Given the description of an element on the screen output the (x, y) to click on. 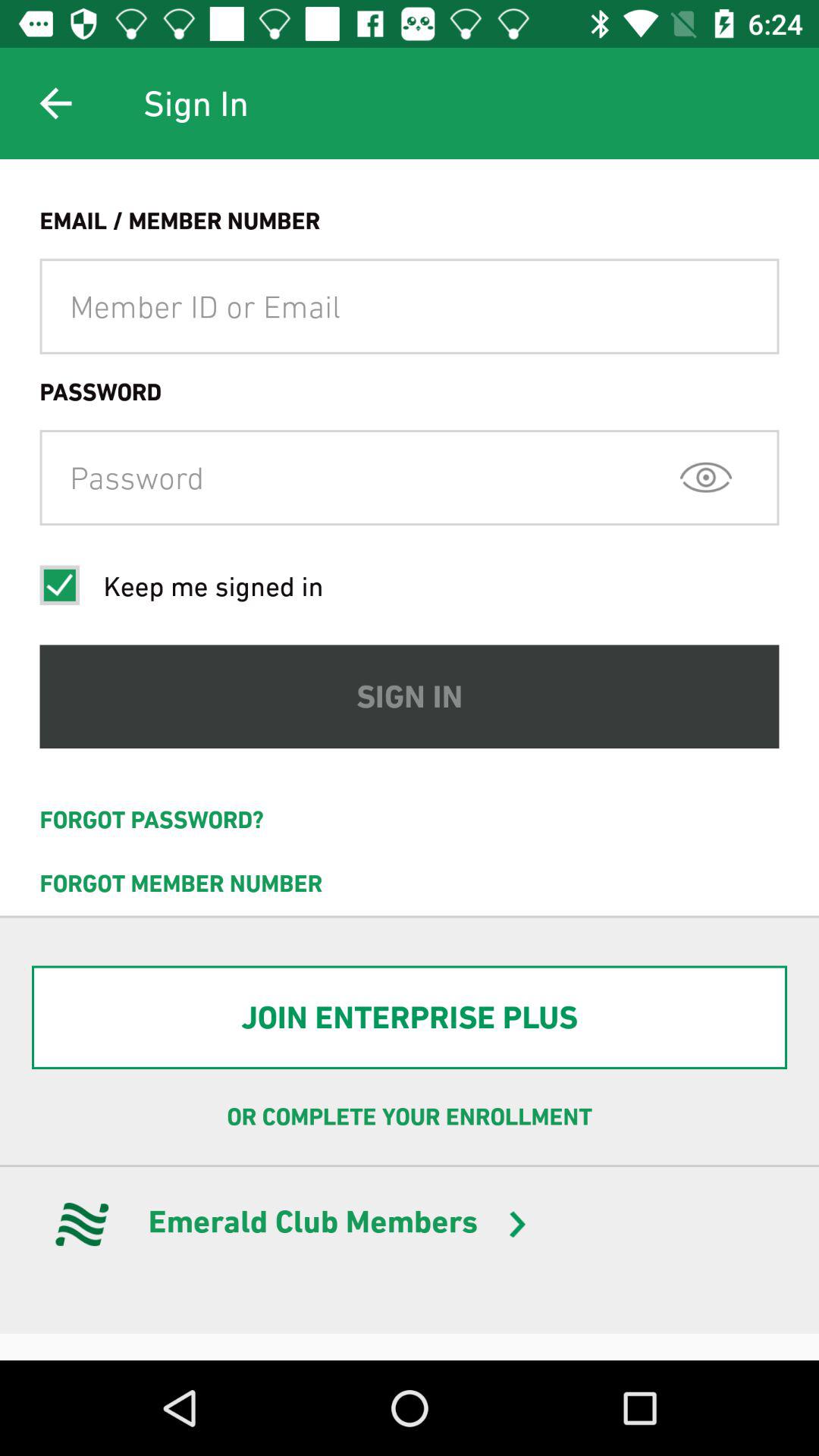
click the join enterprise plus item (409, 1017)
